Given the description of an element on the screen output the (x, y) to click on. 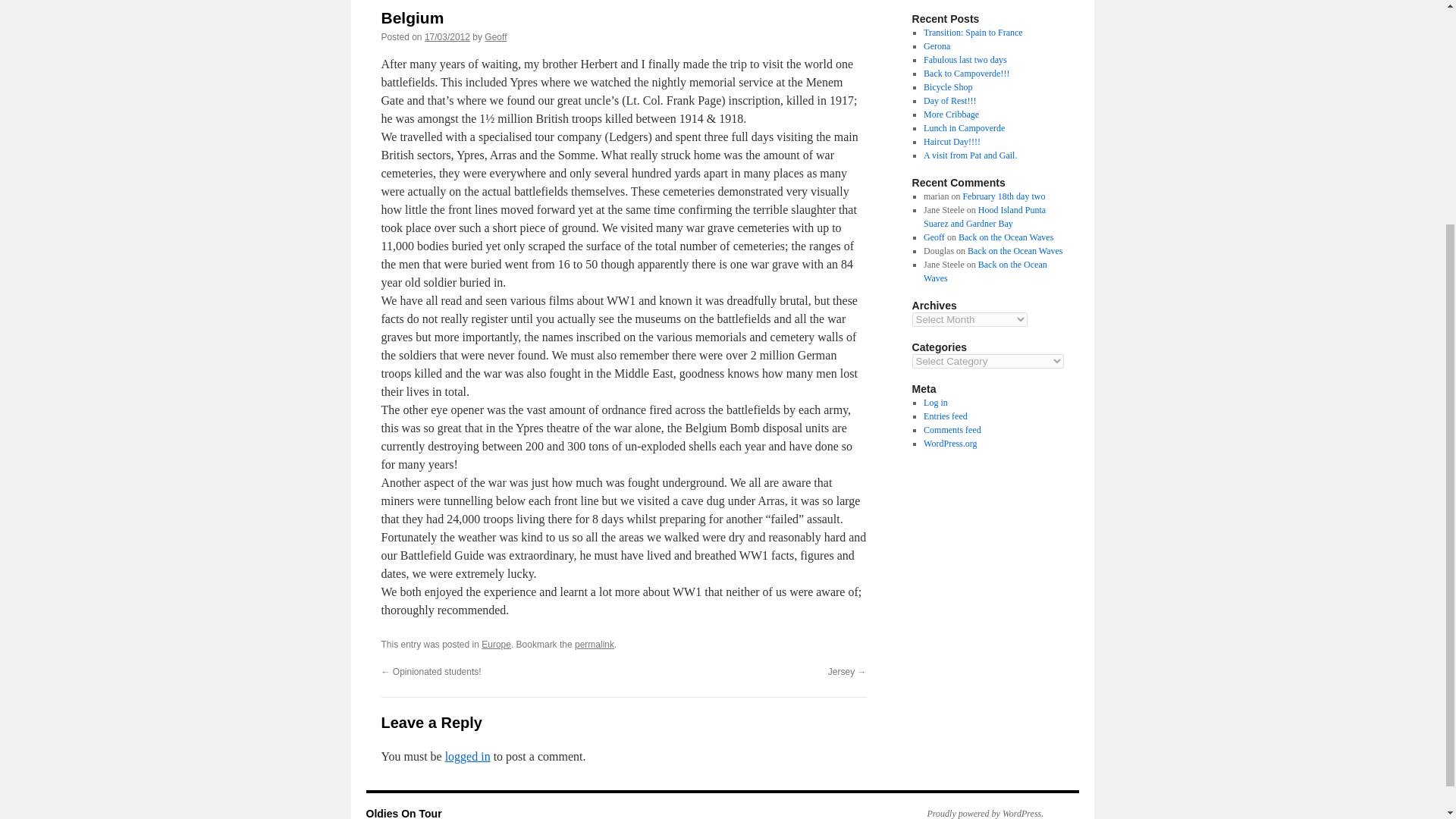
Back on the Ocean Waves (1005, 236)
Hood Island Punta Suarez and Gardner Bay (984, 216)
Bicycle Shop (947, 86)
Back to Campoverde!!! (966, 72)
Entries feed (945, 416)
Comments feed (952, 429)
View all posts by Geoff (495, 36)
Back on the Ocean Waves (1015, 250)
Fabulous last two days (965, 59)
Skip to content (372, 3)
19:01 (447, 36)
Lunch in Campoverde (963, 127)
Permalink to Belgium (594, 644)
Geoff (495, 36)
Log in (935, 402)
